Given the description of an element on the screen output the (x, y) to click on. 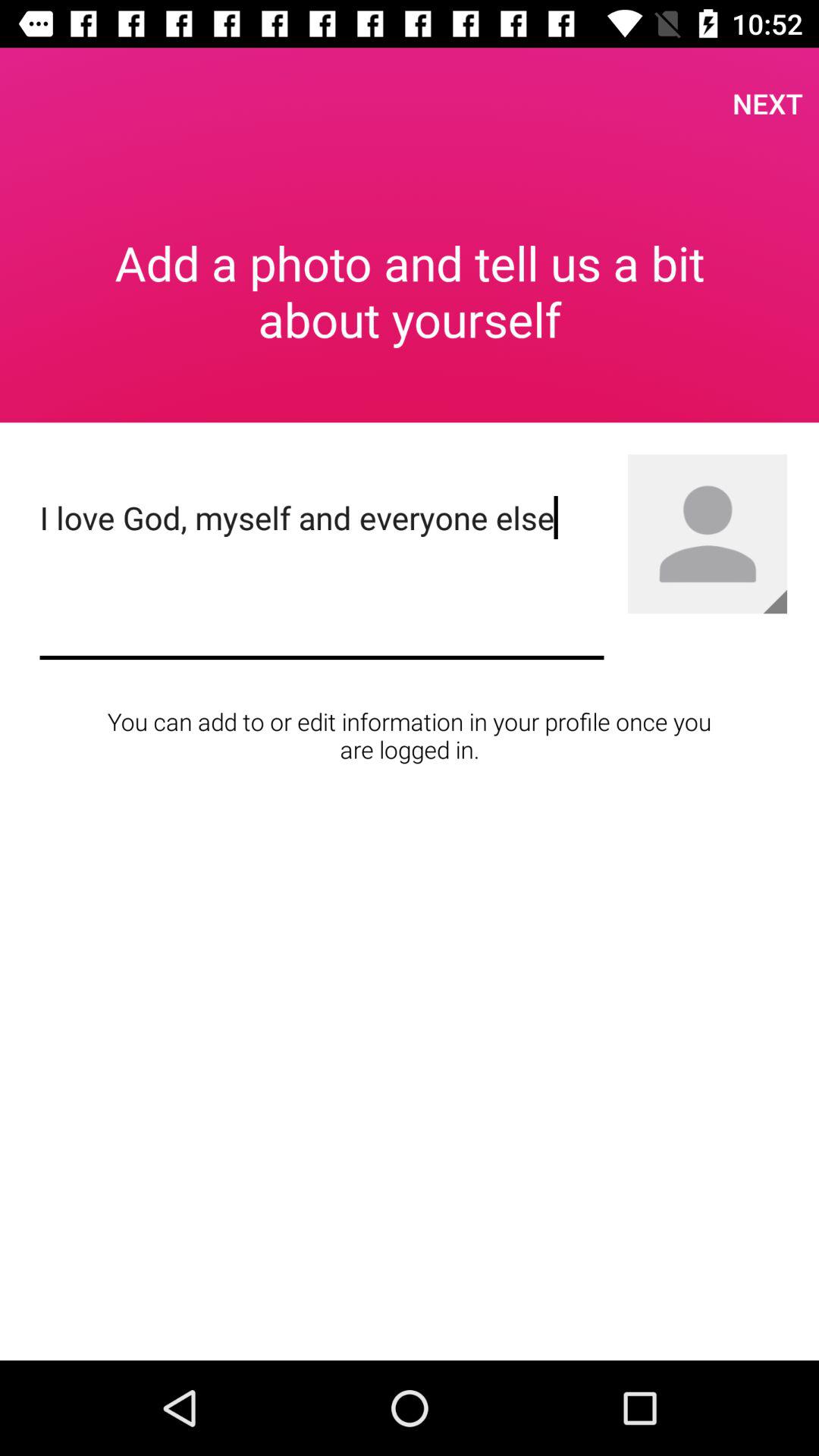
open next item (767, 103)
